Given the description of an element on the screen output the (x, y) to click on. 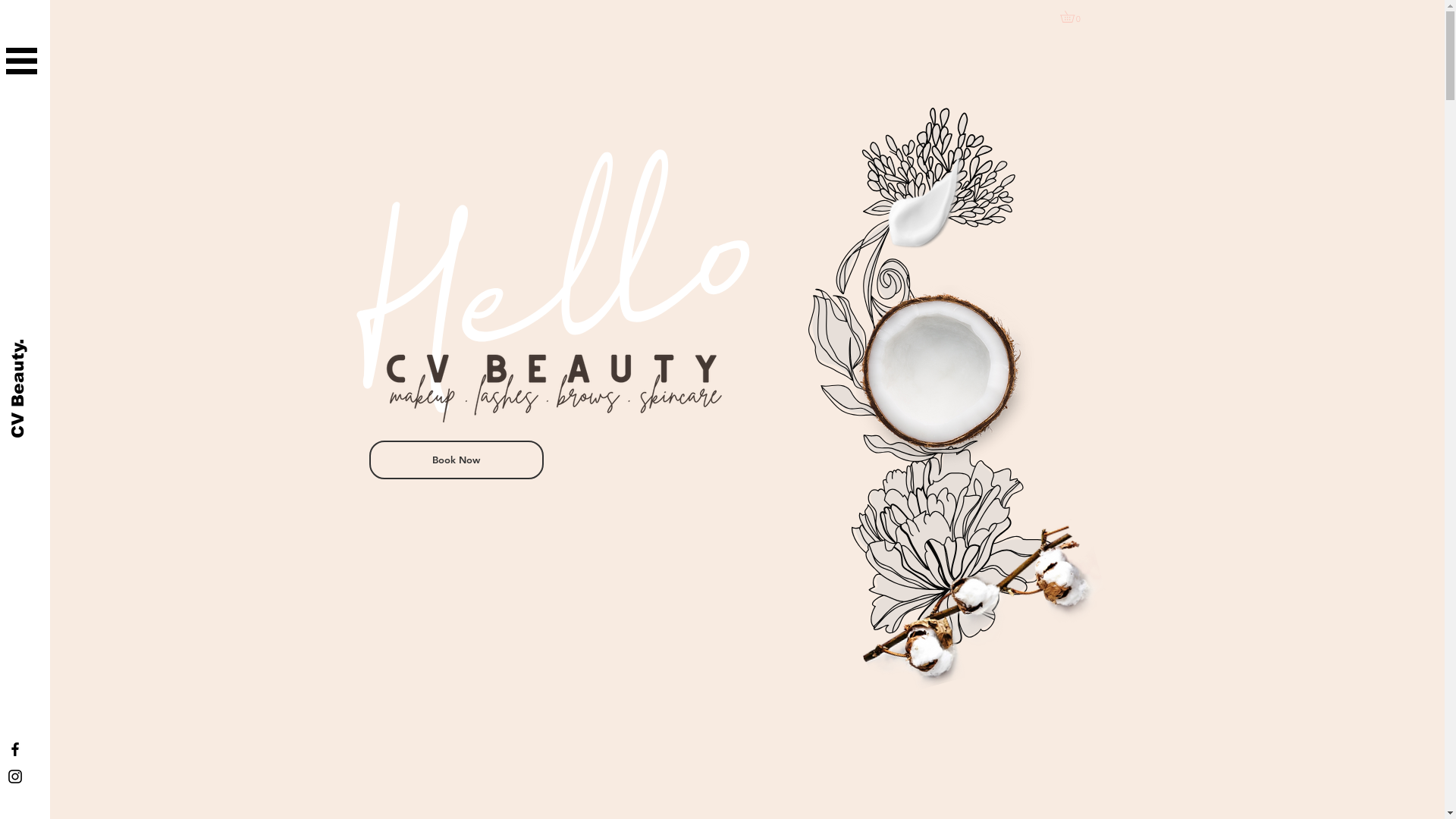
0 Element type: text (1072, 16)
CV Beauty. Element type: text (55, 350)
Book Now Element type: text (455, 459)
